Given the description of an element on the screen output the (x, y) to click on. 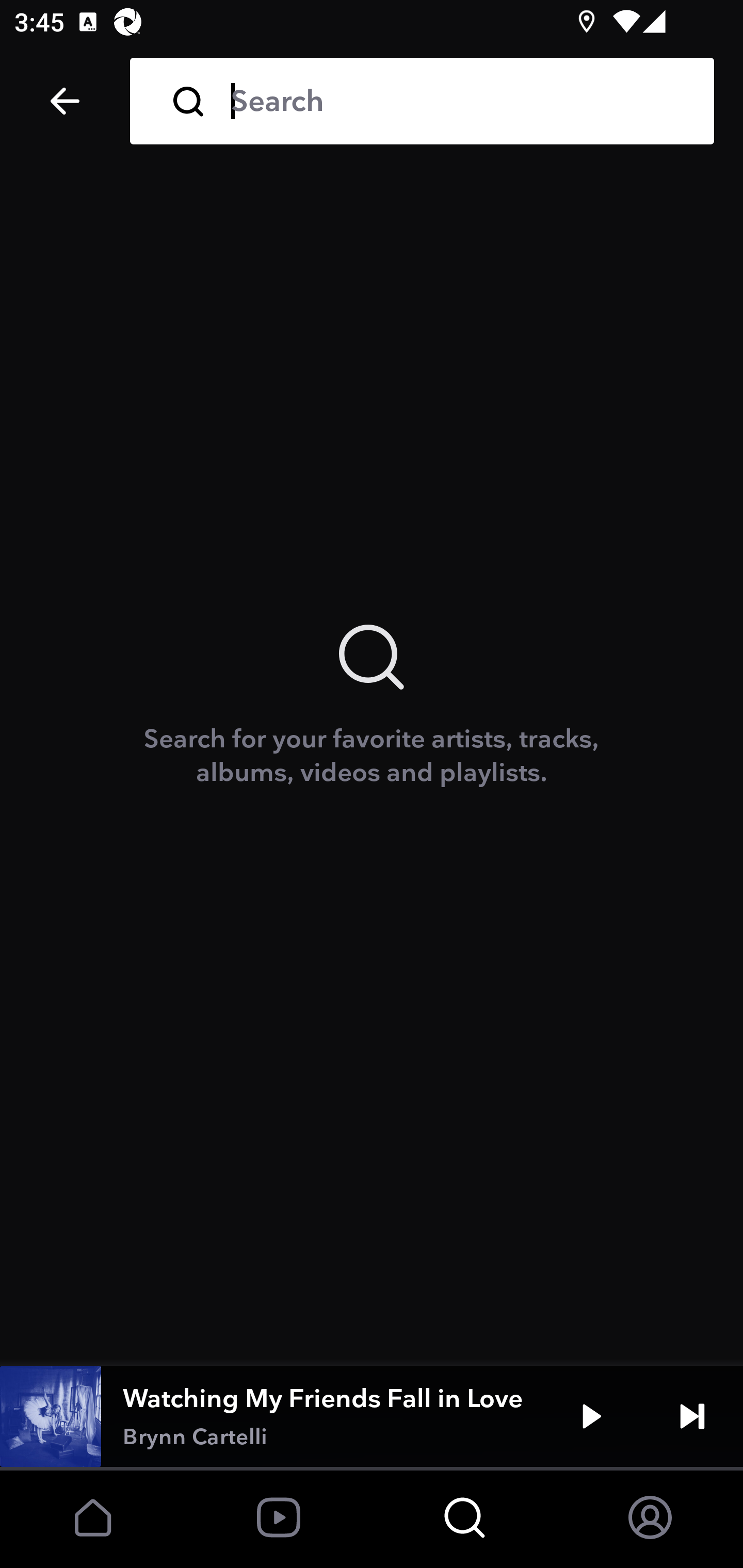
Search (457, 100)
Play (590, 1416)
